Given the description of an element on the screen output the (x, y) to click on. 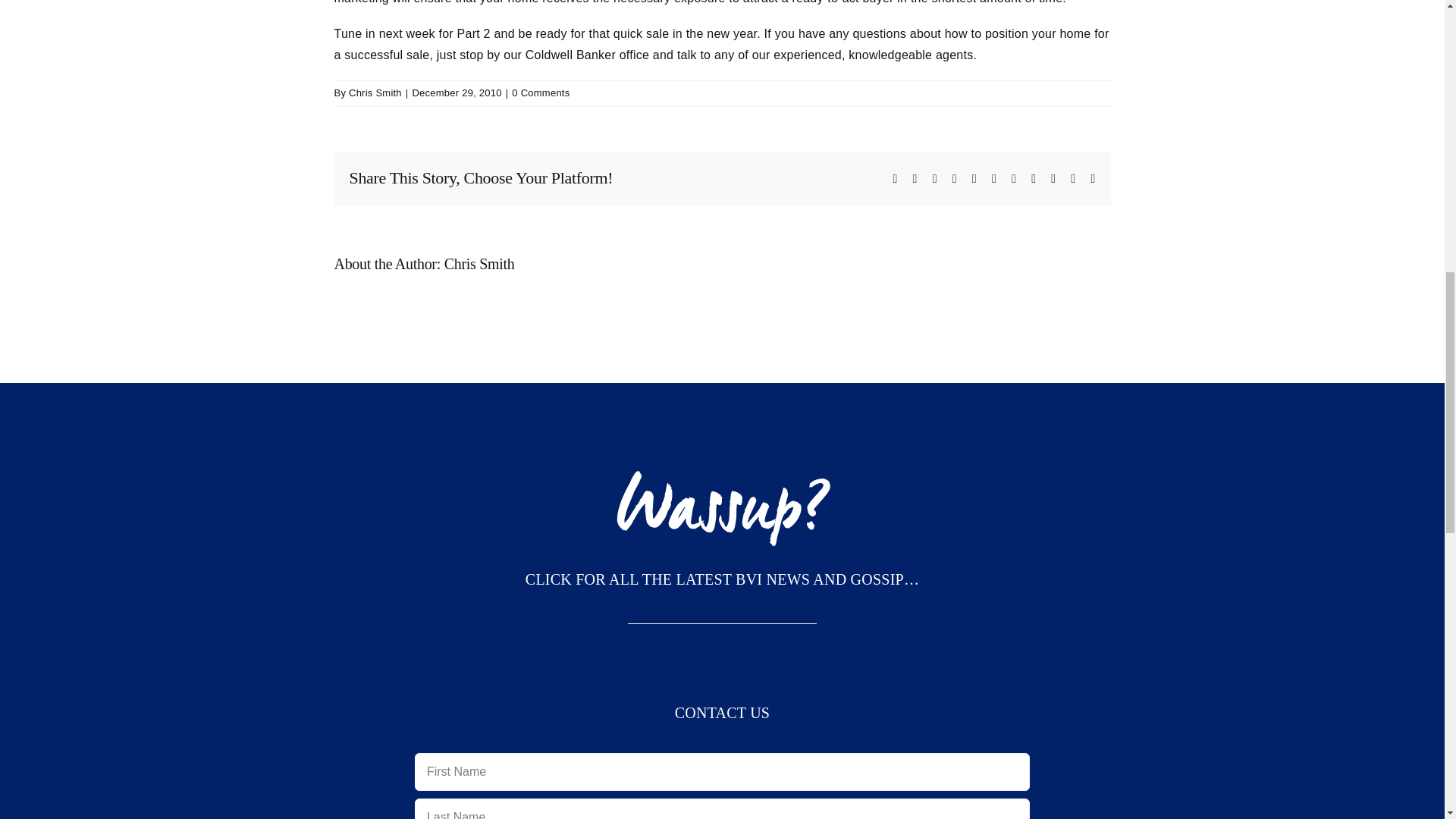
Posts by Chris Smith (479, 263)
Chris Smith (375, 92)
Posts by Chris Smith (375, 92)
Page 1 (721, 579)
0 Comments (540, 92)
